Given the description of an element on the screen output the (x, y) to click on. 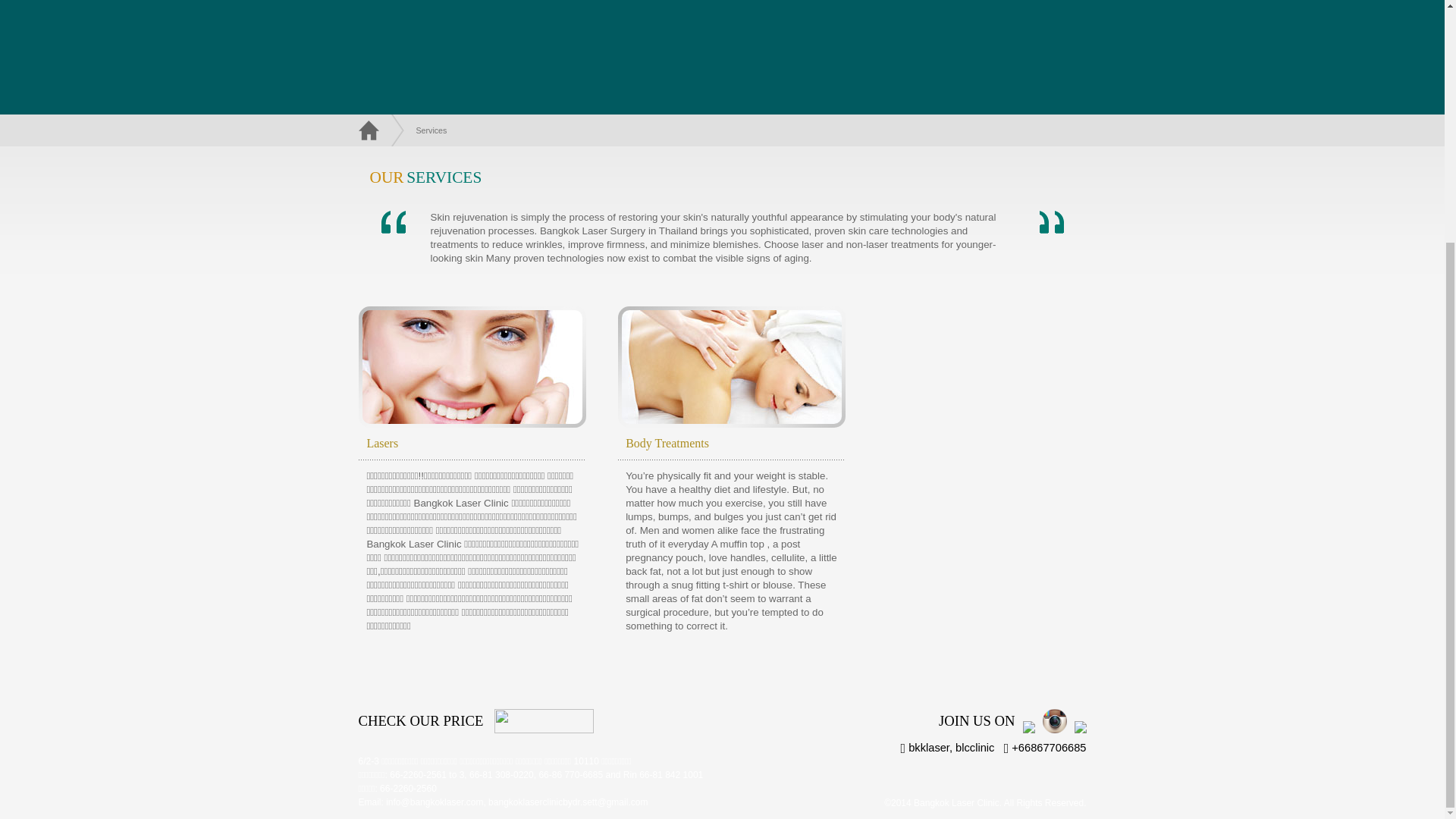
blcclinic (974, 747)
Bangkok Laser Clinic. (957, 802)
Body Treatments (667, 442)
Lasers (381, 442)
bkklaser (928, 747)
Line QR Code - Bangkok Laser Clinic (1075, 729)
